Given the description of an element on the screen output the (x, y) to click on. 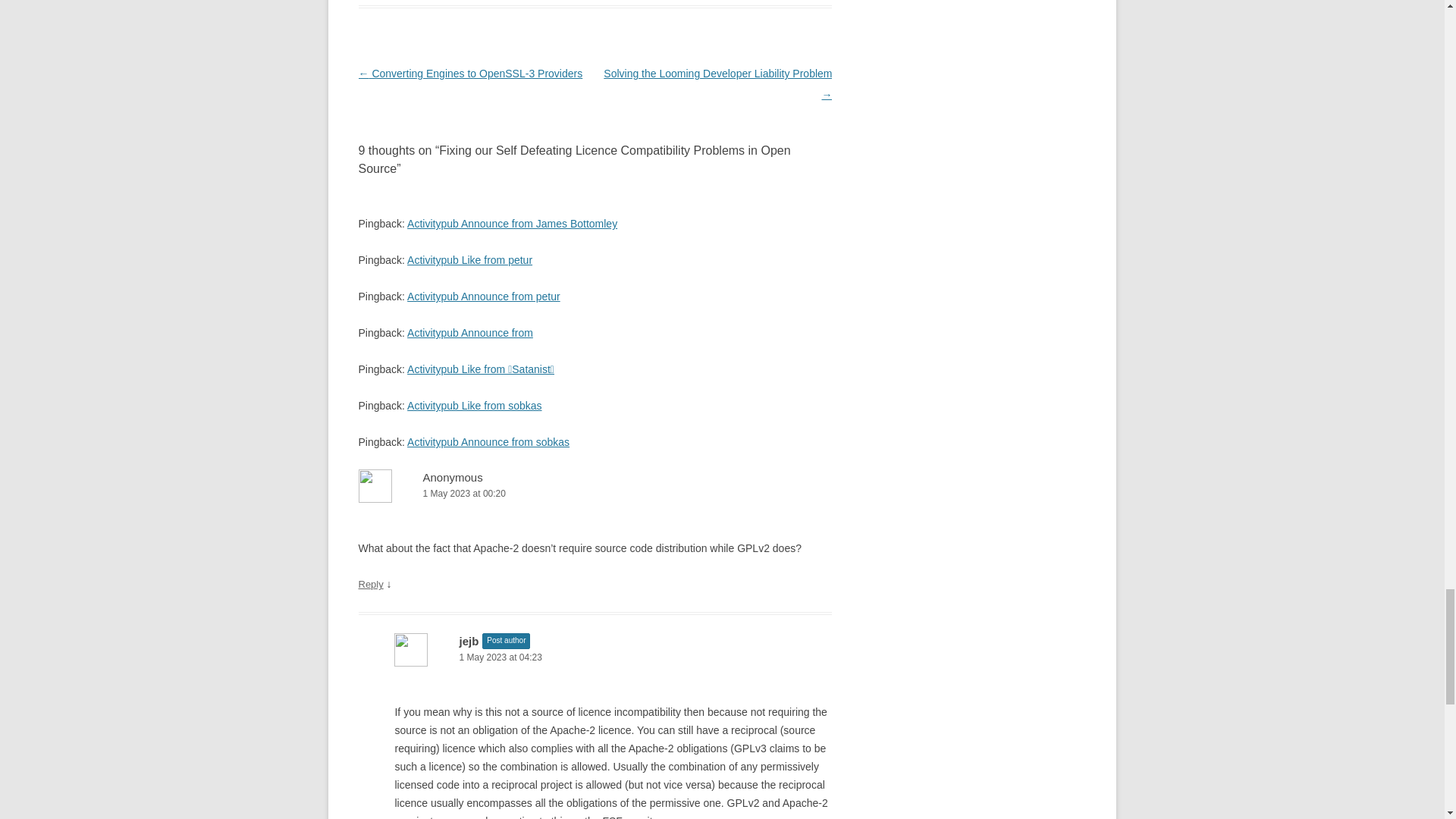
Activitypub Announce from (469, 332)
Activitypub Announce from James Bottomley (512, 223)
jejb (468, 640)
Activitypub Like from petur (469, 259)
Activitypub Announce from petur (483, 296)
Activitypub Like from sobkas (474, 405)
Reply (370, 583)
1 May 2023 at 00:20 (594, 494)
1 May 2023 at 04:23 (612, 657)
Activitypub Announce from sobkas (488, 441)
